Given the description of an element on the screen output the (x, y) to click on. 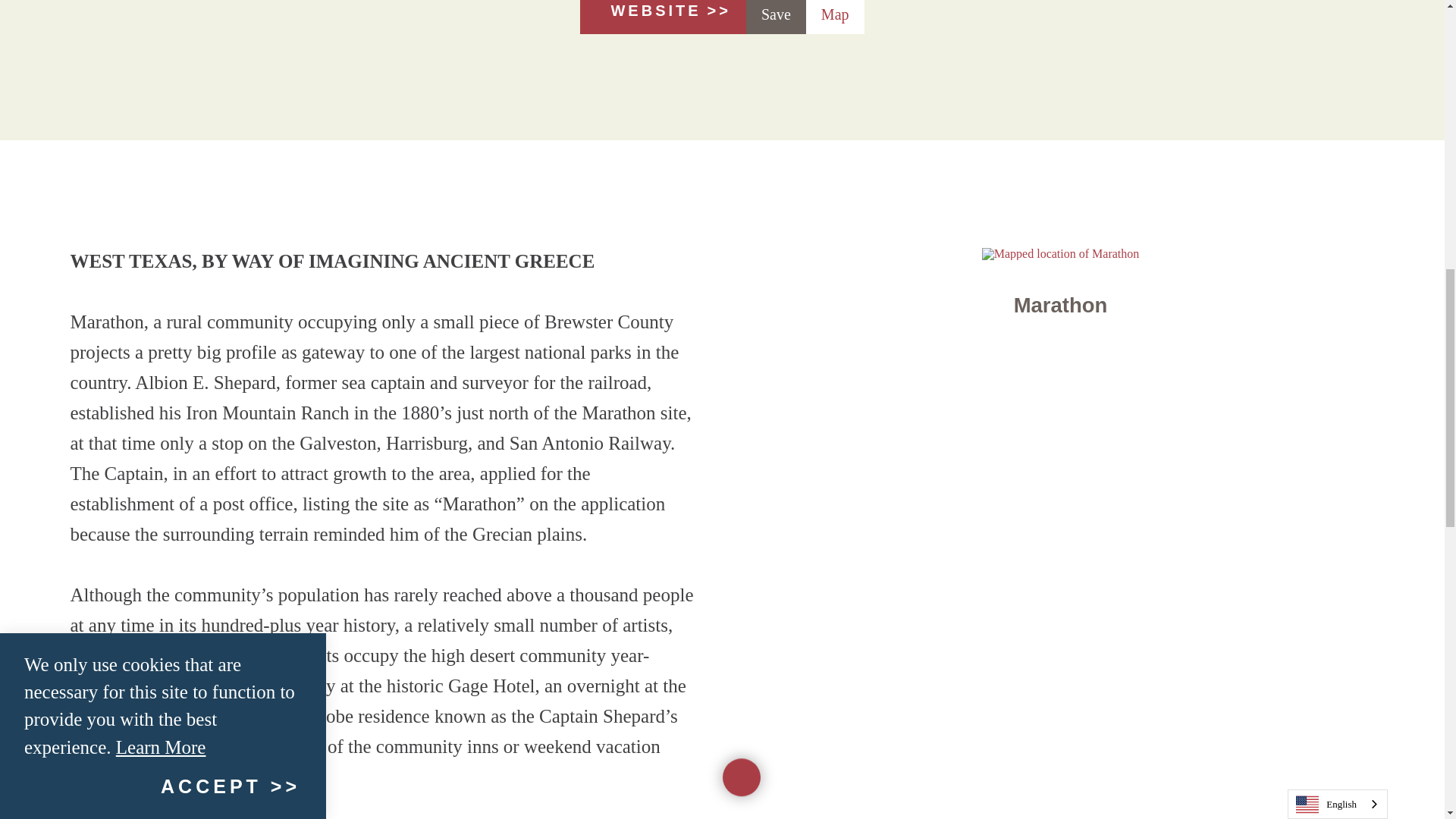
Save (775, 17)
Map (835, 17)
WEBSITE (662, 17)
